Given the description of an element on the screen output the (x, y) to click on. 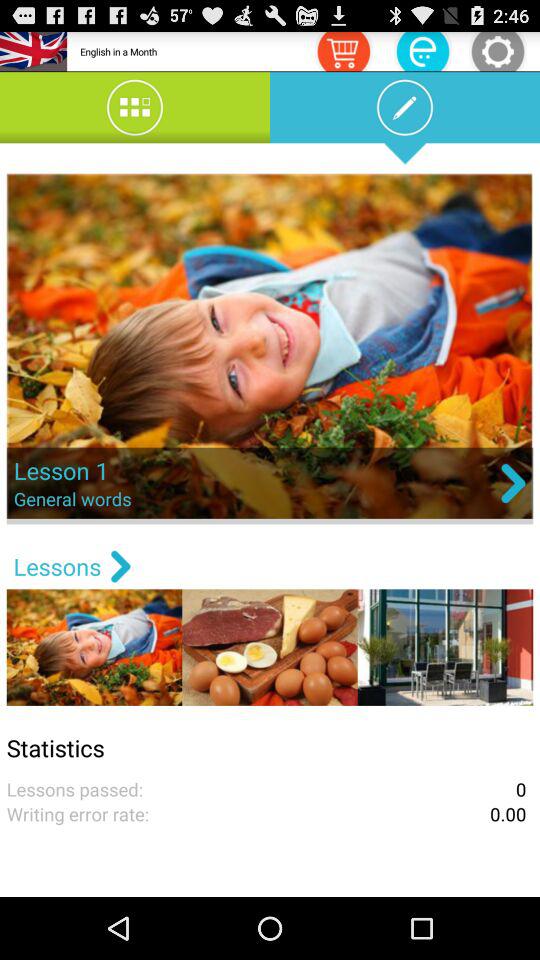
talvez seja somente um problema (343, 50)
